Given the description of an element on the screen output the (x, y) to click on. 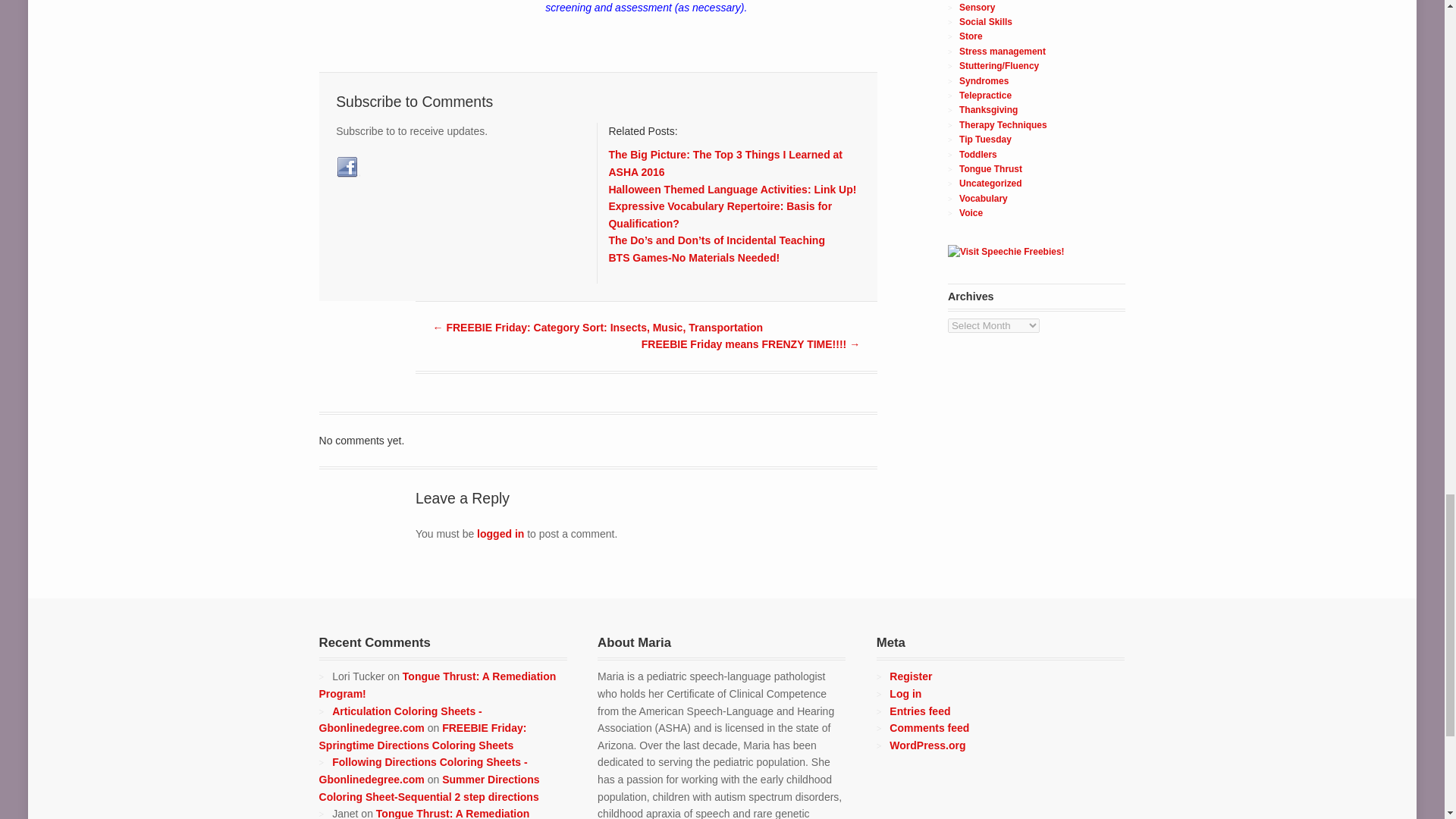
Halloween Themed Language Activities: Link Up! (732, 189)
Expressive Vocabulary Repertoire: Basis for Qualification? (719, 214)
logged in (500, 533)
BTS Games-No Materials Needed! (693, 257)
Halloween Themed Language Activities: Link Up! (732, 189)
Facebook (347, 167)
Expressive Vocabulary Repertoire: Basis for Qualification? (719, 214)
The Big Picture: The Top 3 Things I Learned at ASHA 2016 (725, 163)
The Big Picture: The Top 3 Things I Learned at ASHA 2016 (725, 163)
BTS Games-No Materials Needed! (693, 257)
